Given the description of an element on the screen output the (x, y) to click on. 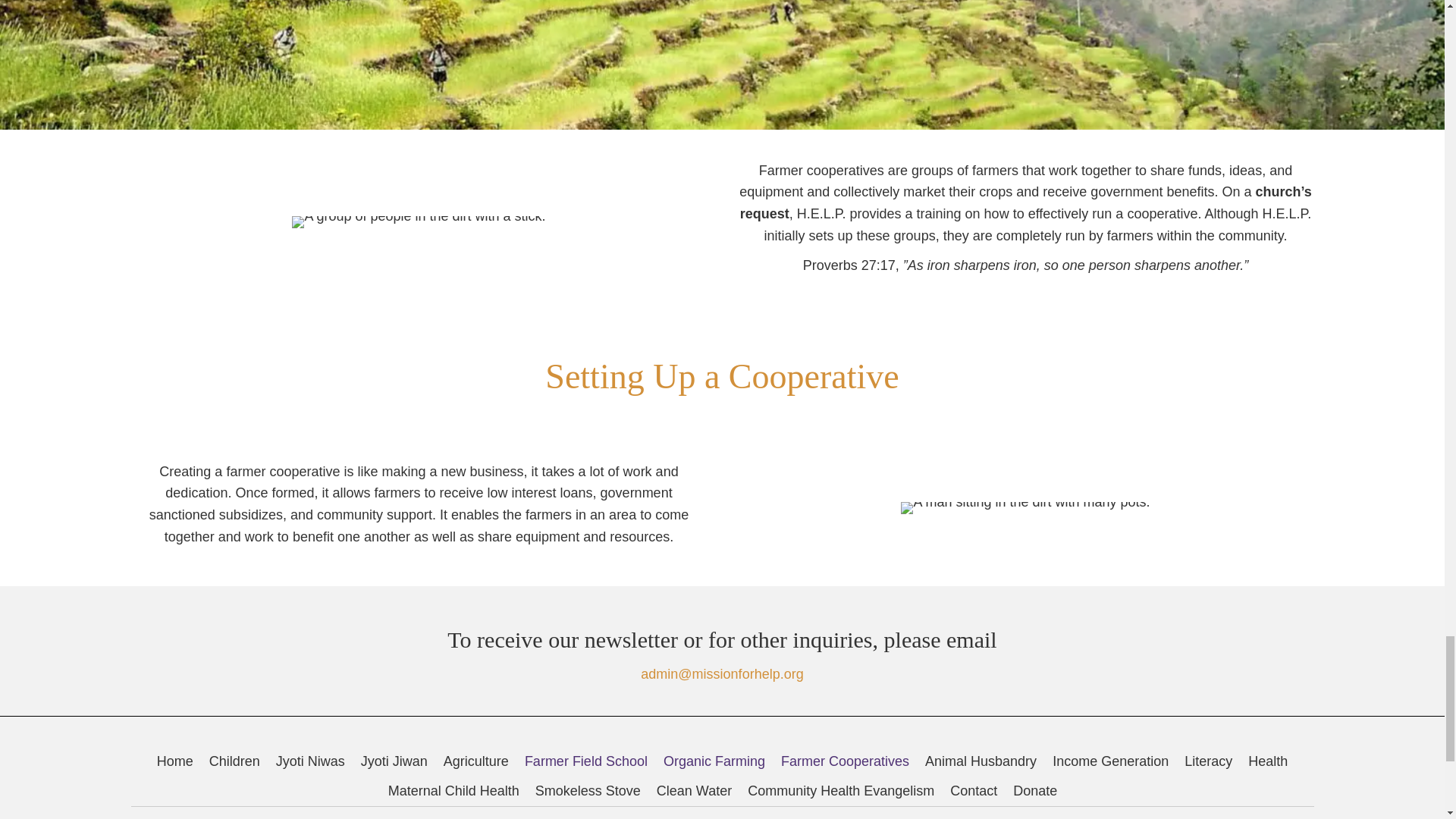
HELP (225, 812)
Untitled-design-19 (418, 221)
